Given the description of an element on the screen output the (x, y) to click on. 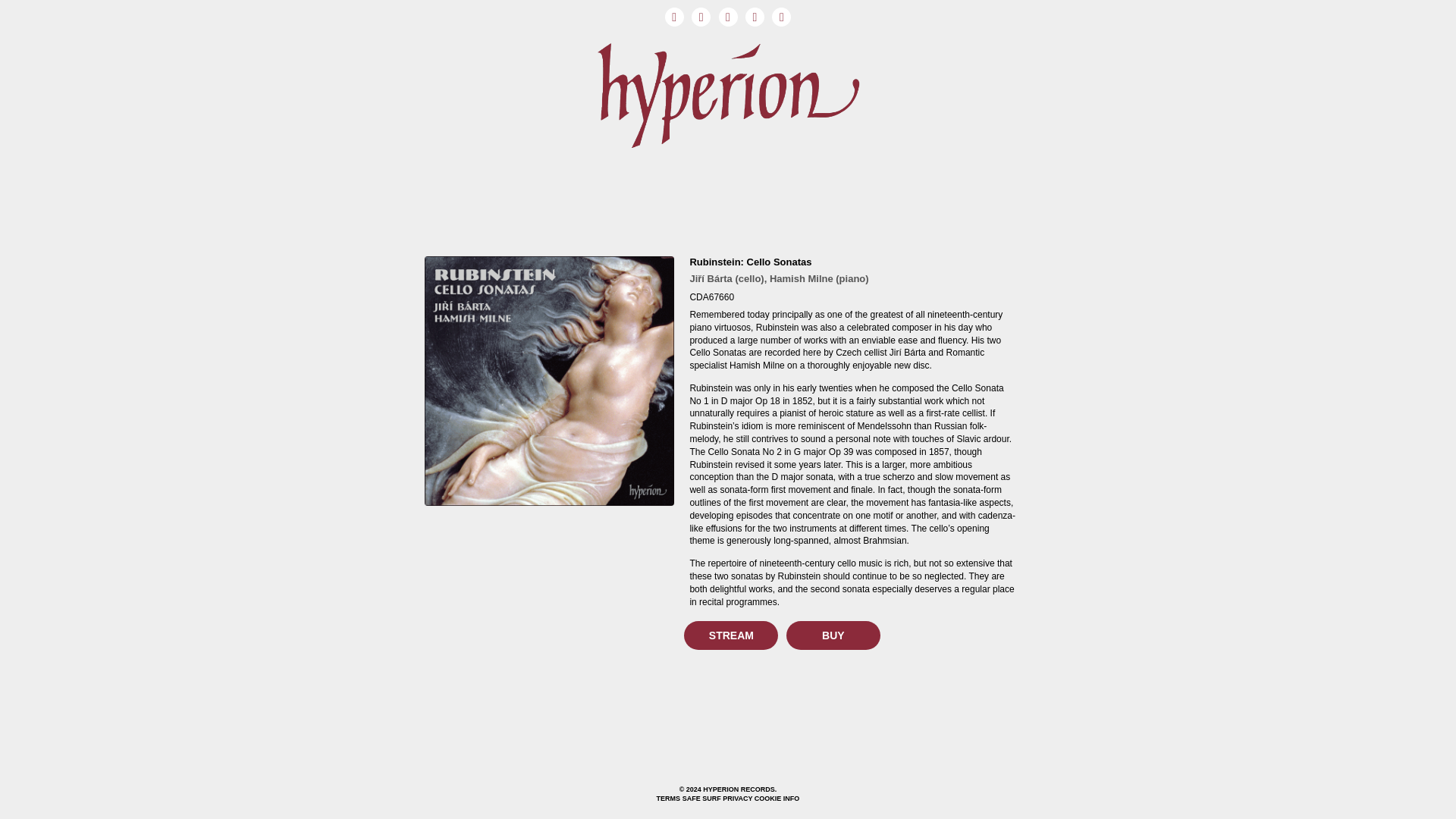
SAFE SURF (701, 798)
Rubinstein: Cello Sonatas (749, 261)
COOKIE INFO (776, 798)
PRIVACY (737, 798)
STREAM (730, 635)
TERMS (668, 798)
BUY (833, 635)
